Given the description of an element on the screen output the (x, y) to click on. 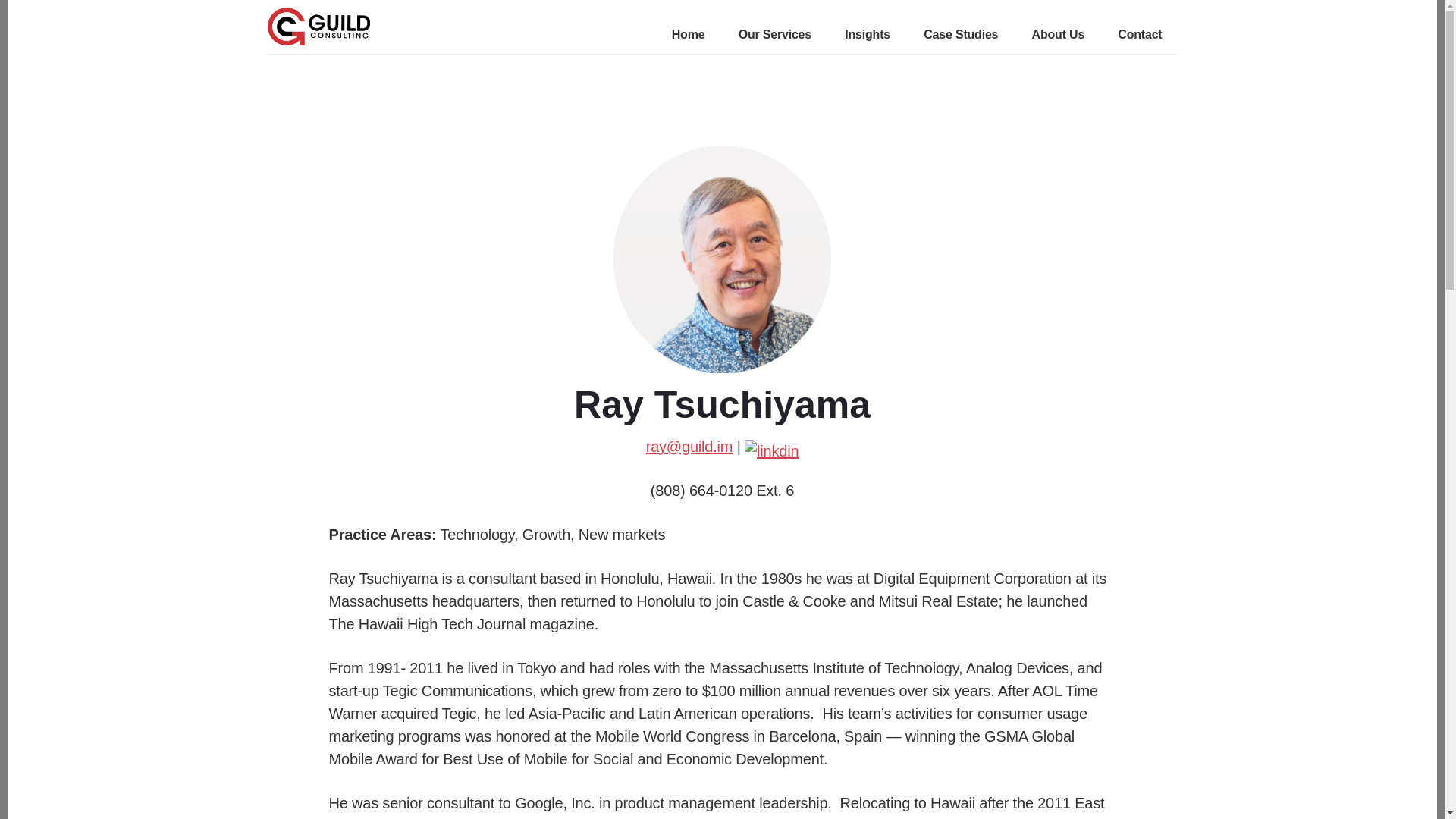
Our Services (774, 36)
Contact (1139, 36)
Insights (867, 36)
IMG ray (721, 259)
Case Studies (960, 36)
Home (687, 36)
linkdin (770, 450)
About Us (1058, 36)
